Given the description of an element on the screen output the (x, y) to click on. 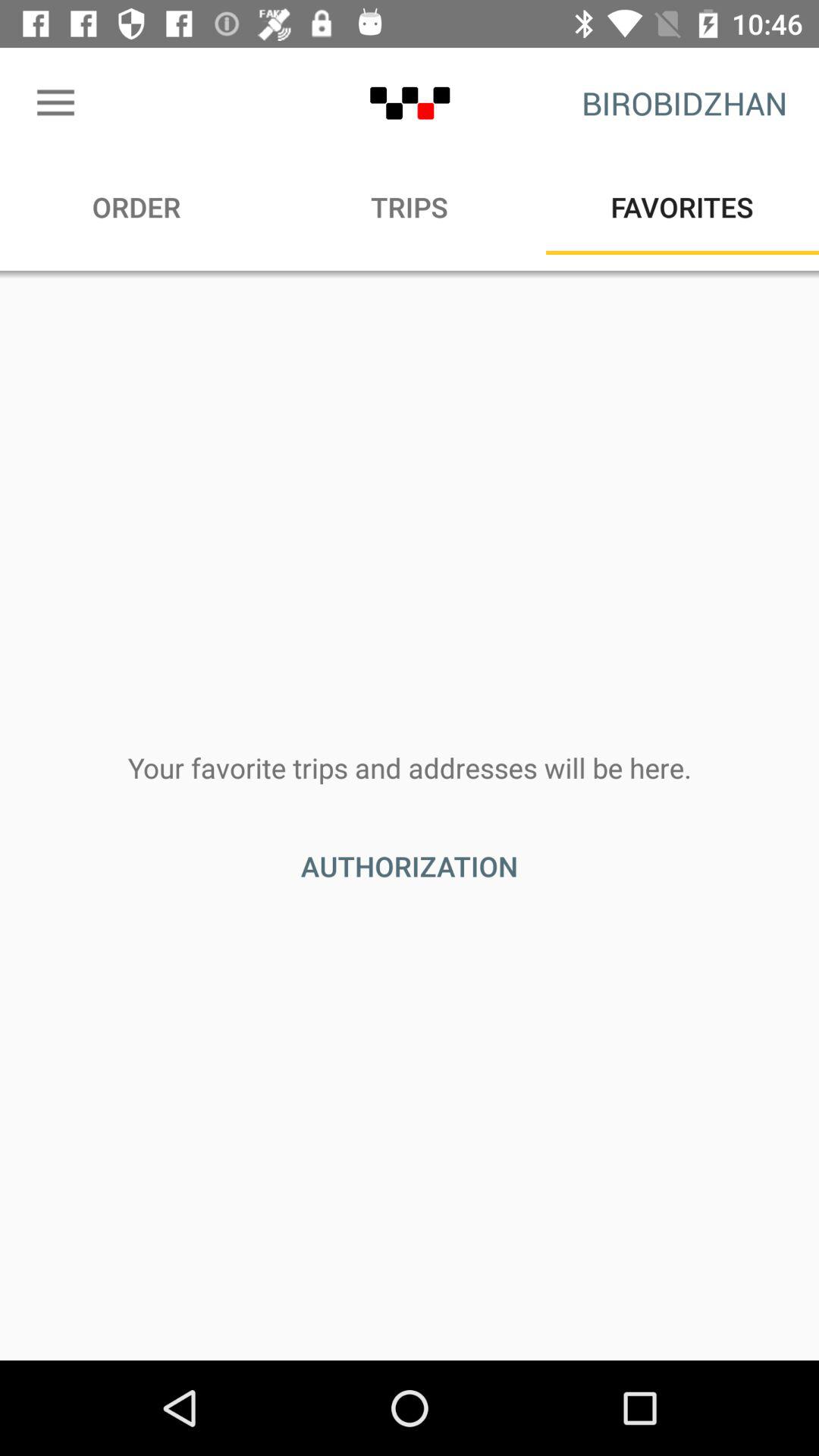
choose item above the order icon (55, 103)
